Given the description of an element on the screen output the (x, y) to click on. 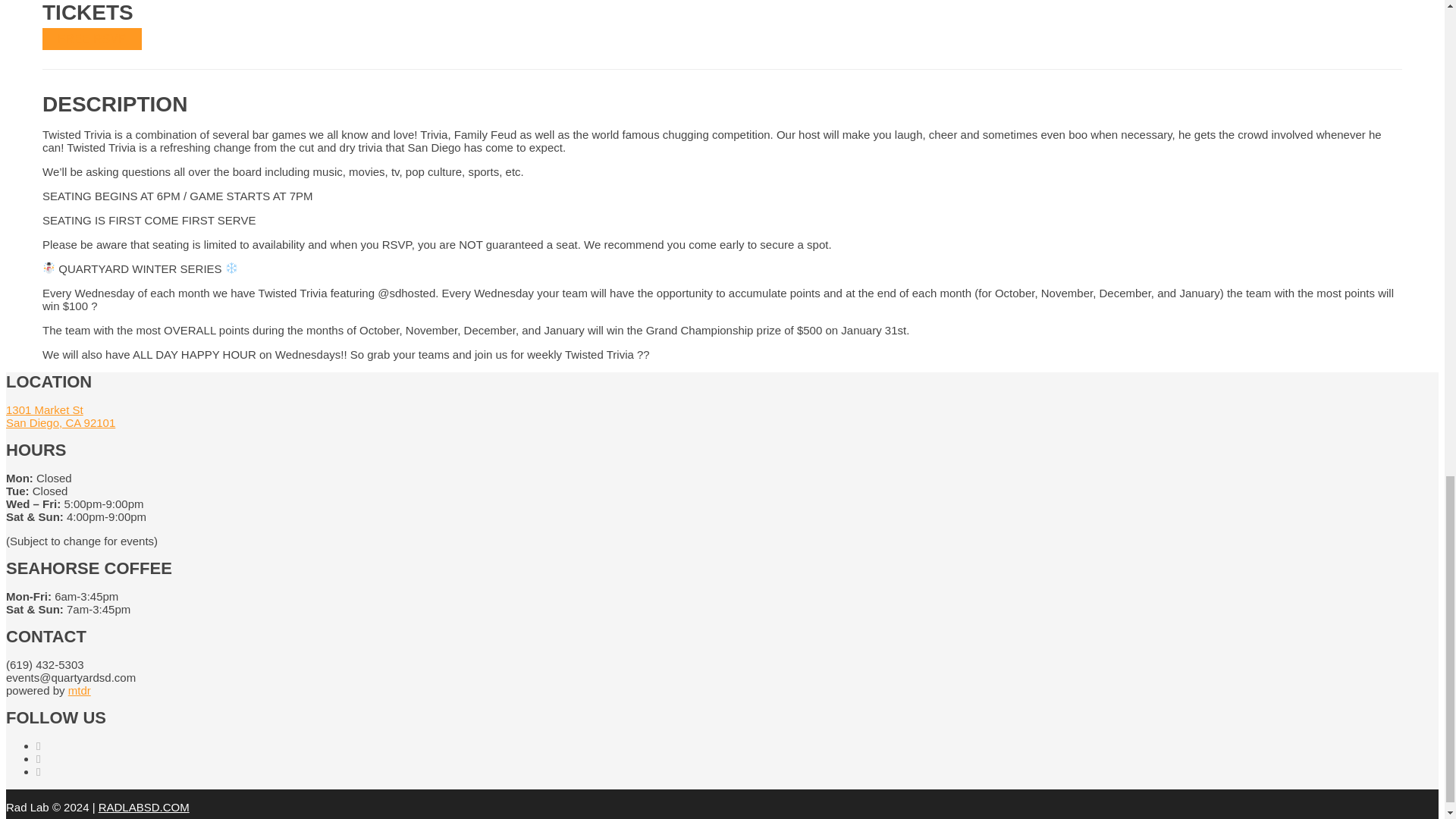
mtdr (60, 416)
RADLABSD.COM (79, 689)
FREE RSVP (144, 807)
